Given the description of an element on the screen output the (x, y) to click on. 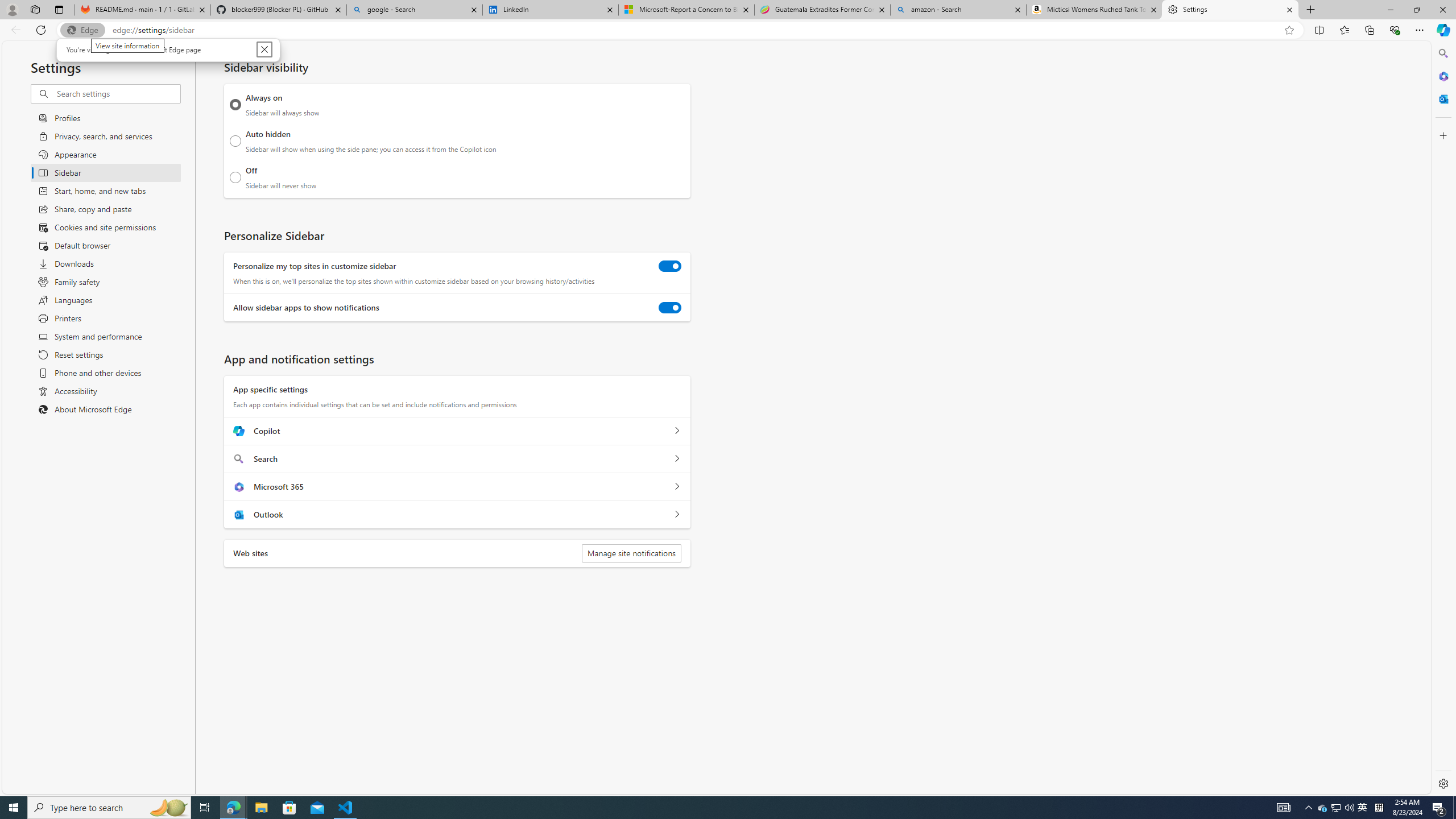
Search highlights icon opens search home window (167, 807)
Type here to search (1362, 807)
Copilot (108, 807)
